Given the description of an element on the screen output the (x, y) to click on. 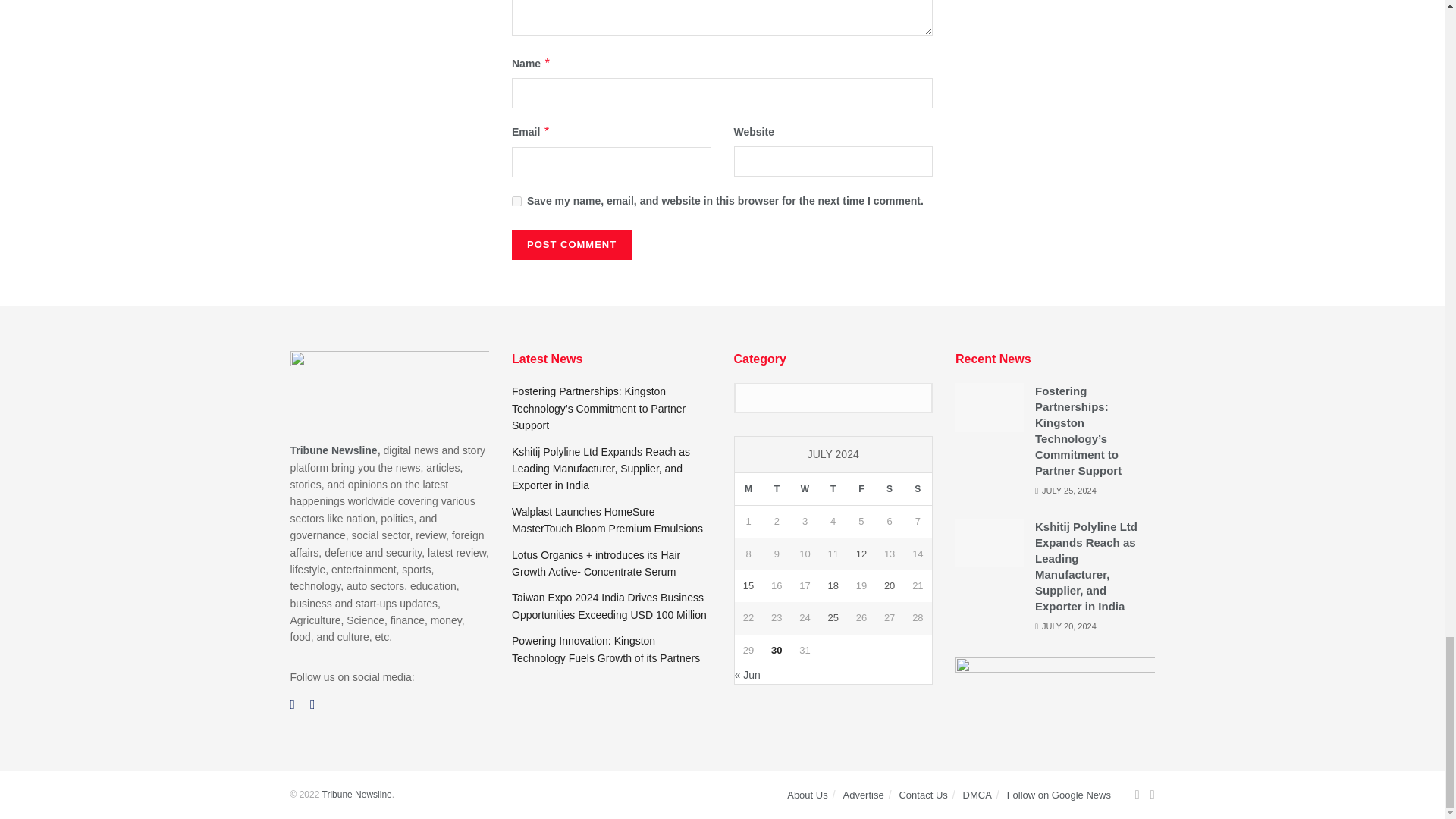
The News Guru (356, 794)
Post Comment (571, 245)
yes (516, 201)
